Given the description of an element on the screen output the (x, y) to click on. 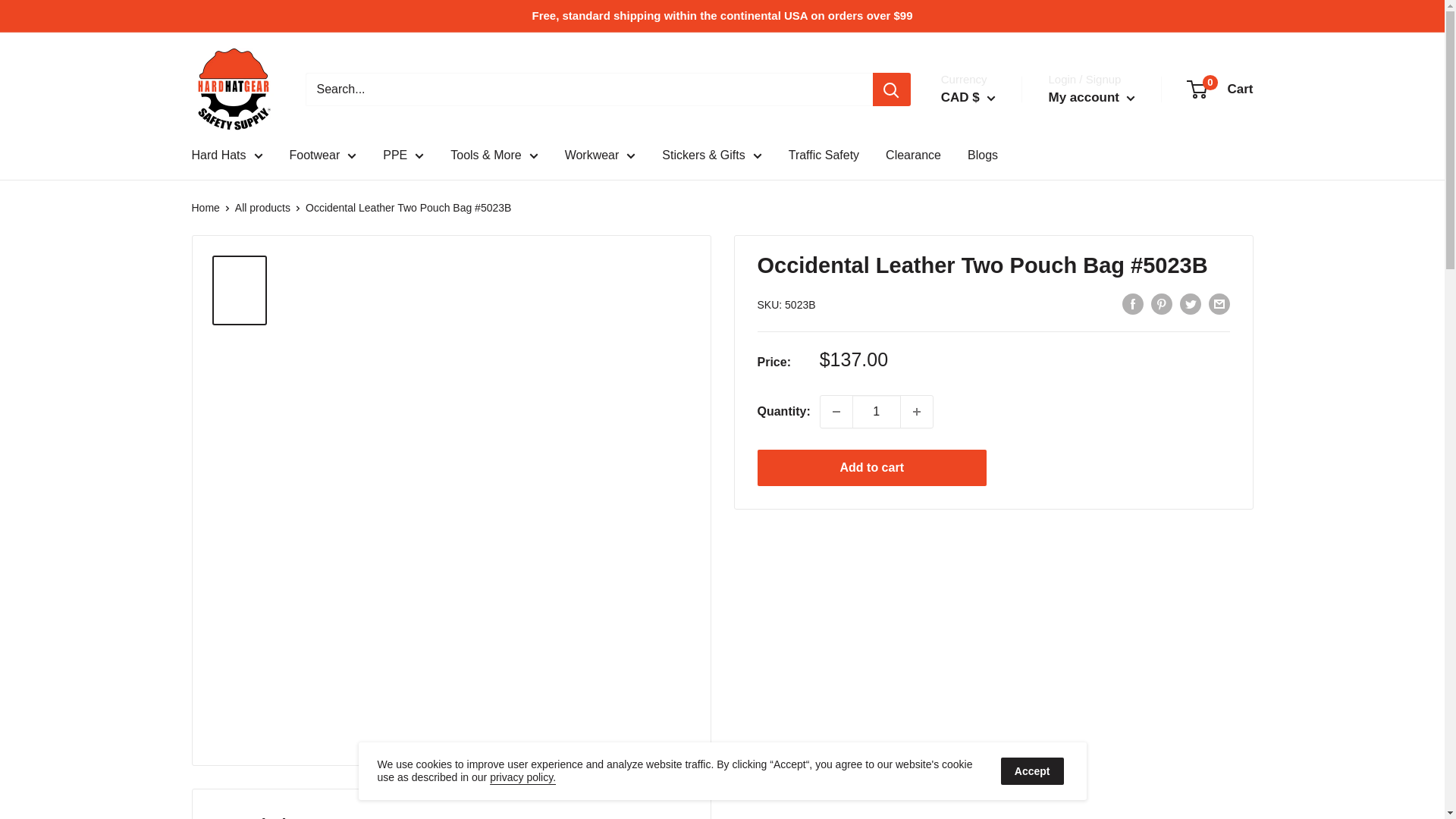
HardHatGear Private Policy (522, 776)
Decrease quantity by 1 (836, 411)
1 (876, 411)
Increase quantity by 1 (917, 411)
